Given the description of an element on the screen output the (x, y) to click on. 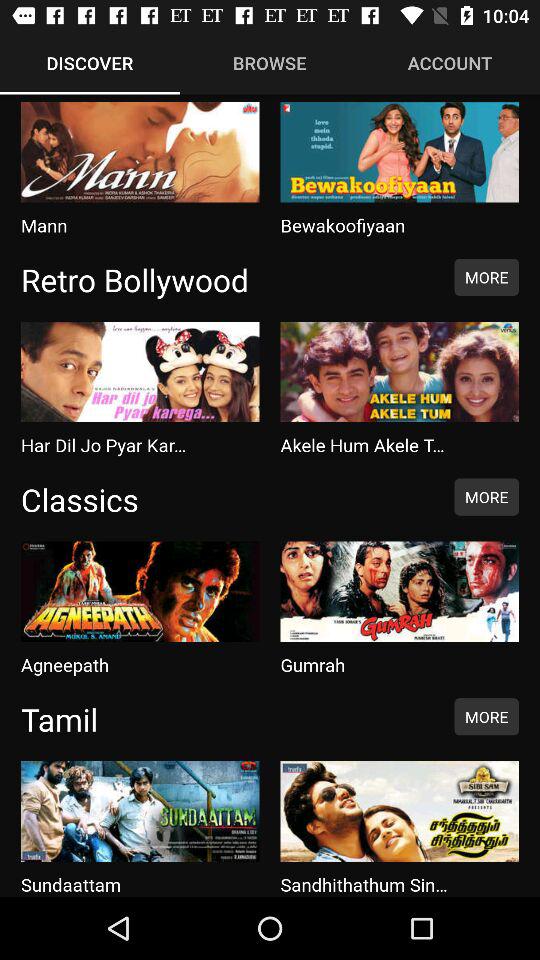
scroll to the tamil (227, 719)
